Given the description of an element on the screen output the (x, y) to click on. 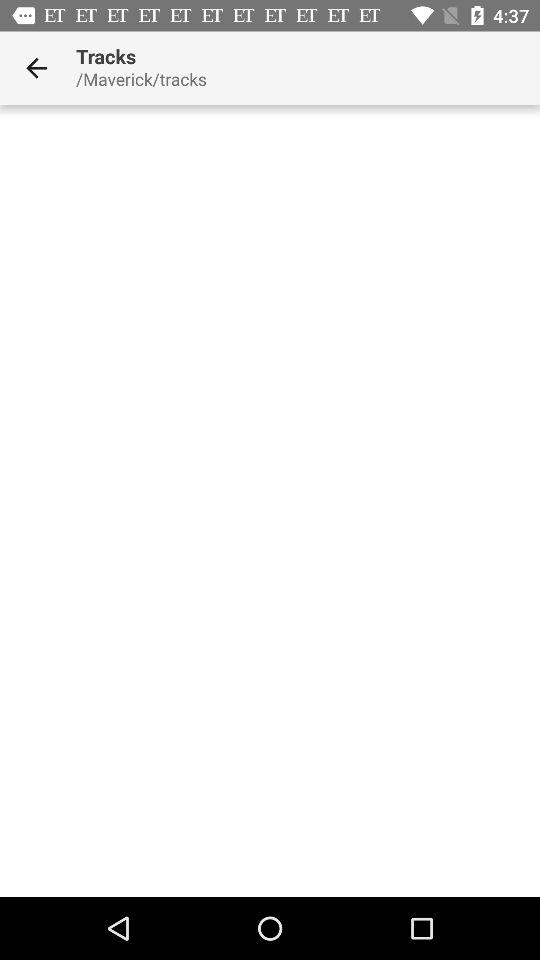
press the item at the center (270, 500)
